Given the description of an element on the screen output the (x, y) to click on. 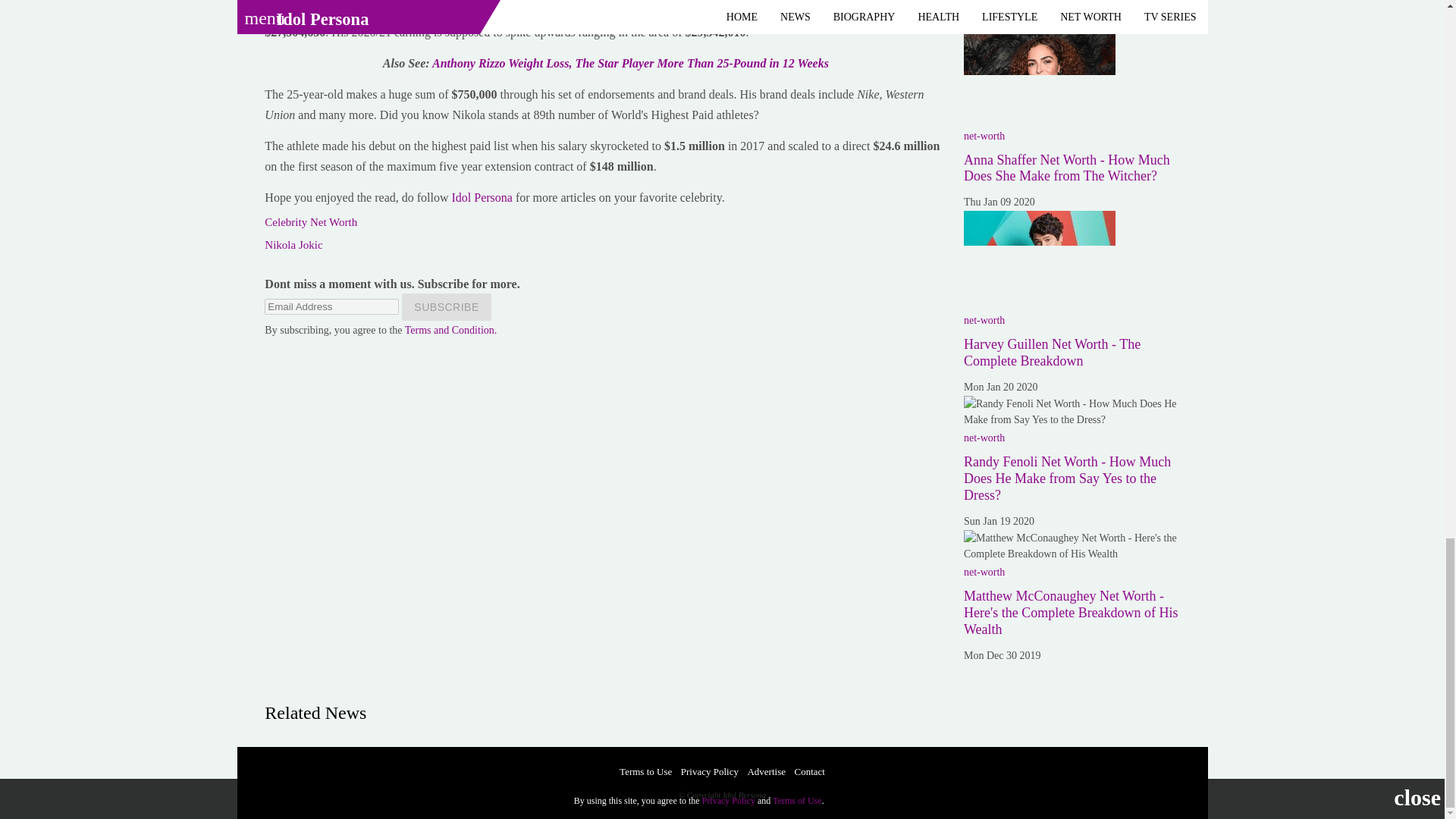
Celebrity Net Worth (310, 222)
Nikola Jokic (292, 244)
SUBSCRIBE (445, 307)
Idol Persona (480, 196)
Harvey Guillen Net Worth - The Complete Breakdown (1039, 257)
According to Hoopshype (325, 11)
